Given the description of an element on the screen output the (x, y) to click on. 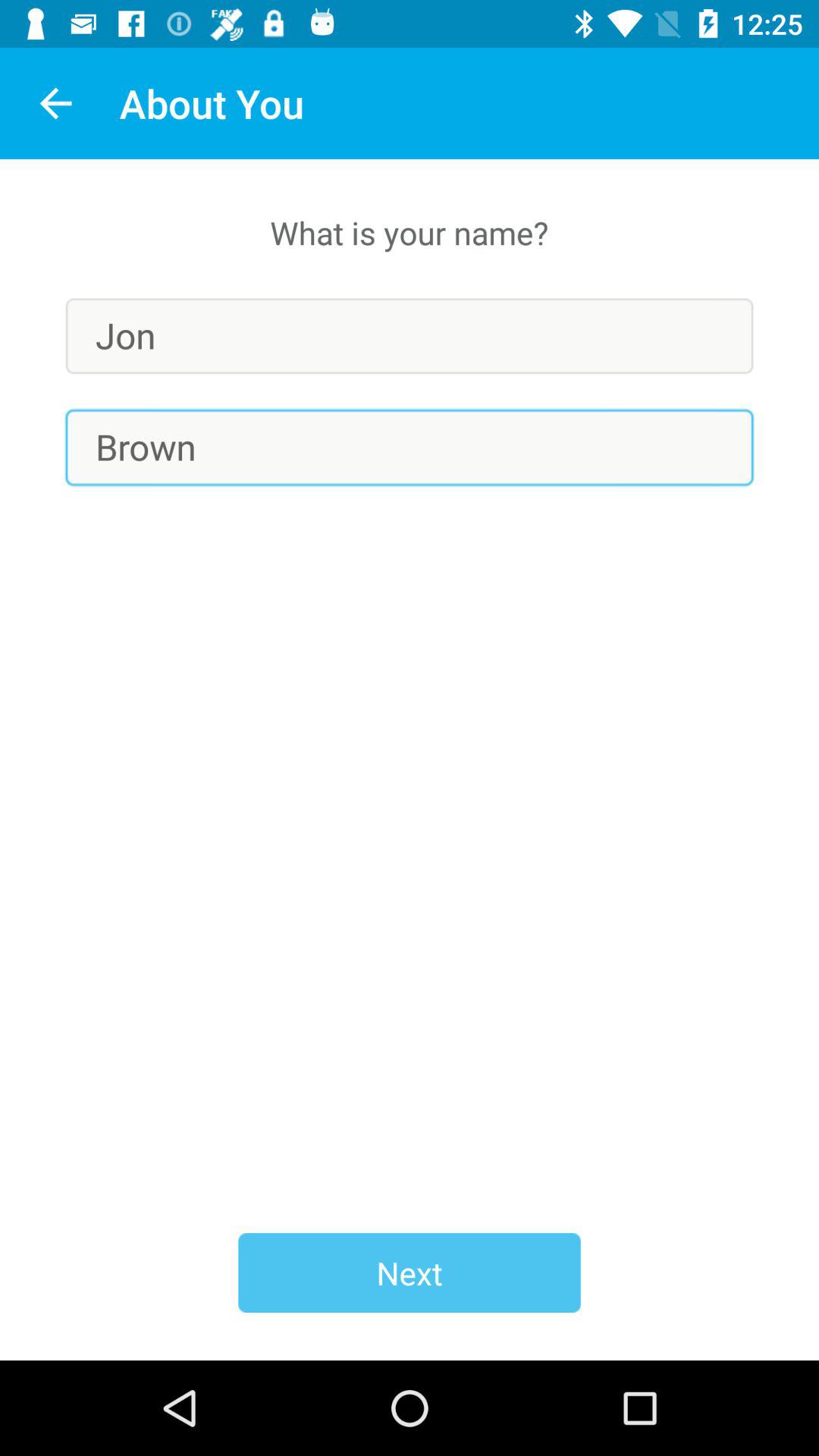
jump to the jon item (409, 335)
